Given the description of an element on the screen output the (x, y) to click on. 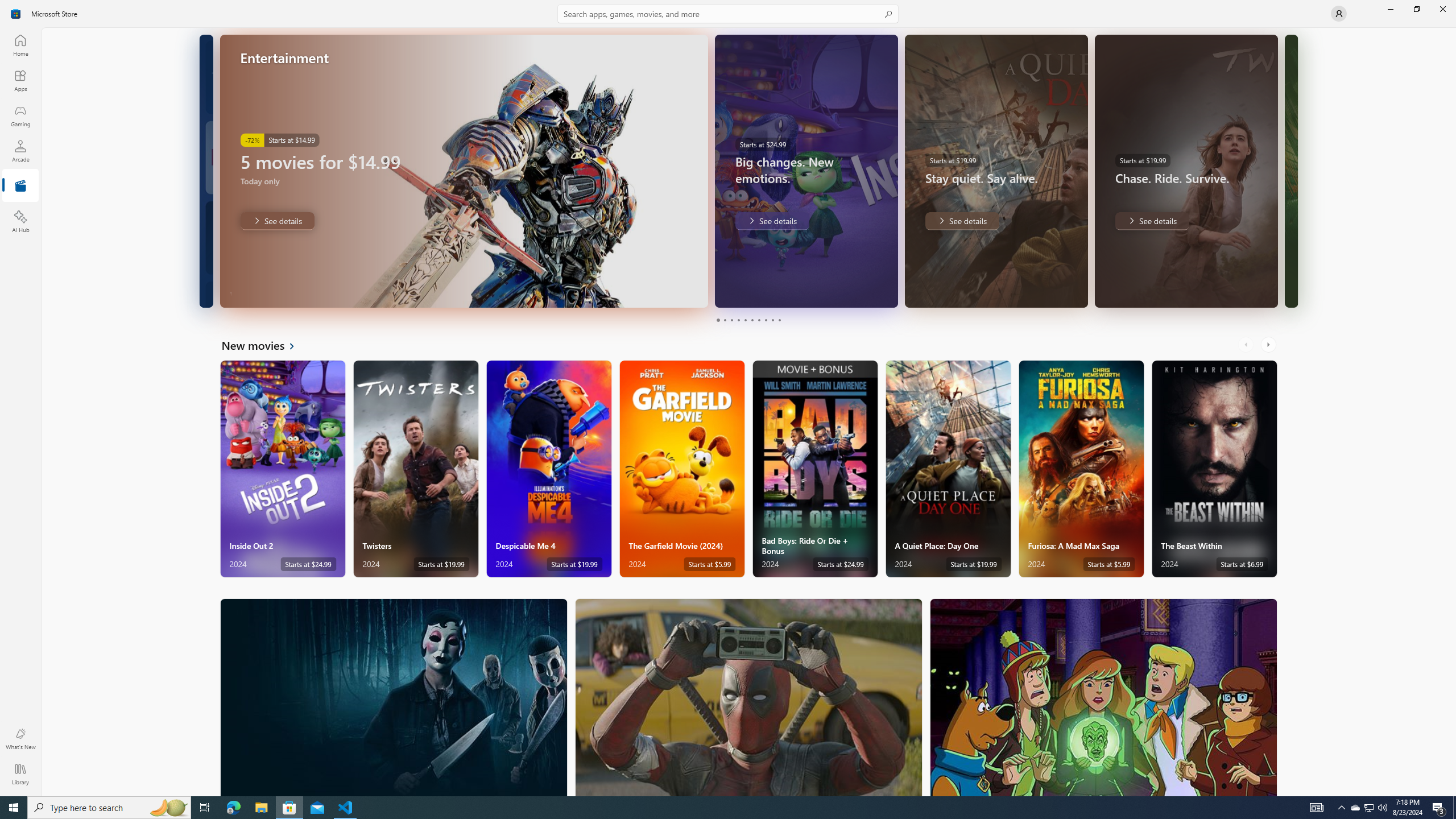
Restore Microsoft Store (1416, 9)
Page 10 (779, 319)
Home (20, 45)
AutomationID: LeftScrollButton (1246, 344)
Gaming (20, 115)
Page 5 (744, 319)
The Beast Within. Starts at $6.99   (1213, 469)
Minimize Microsoft Store (1390, 9)
The Garfield Movie (2024). Starts at $5.99   (681, 469)
Page 3 (731, 319)
Bad Boys: Ride Or Die + Bonus. Starts at $24.99   (814, 469)
What's New (20, 738)
AI Hub (20, 221)
